Given the description of an element on the screen output the (x, y) to click on. 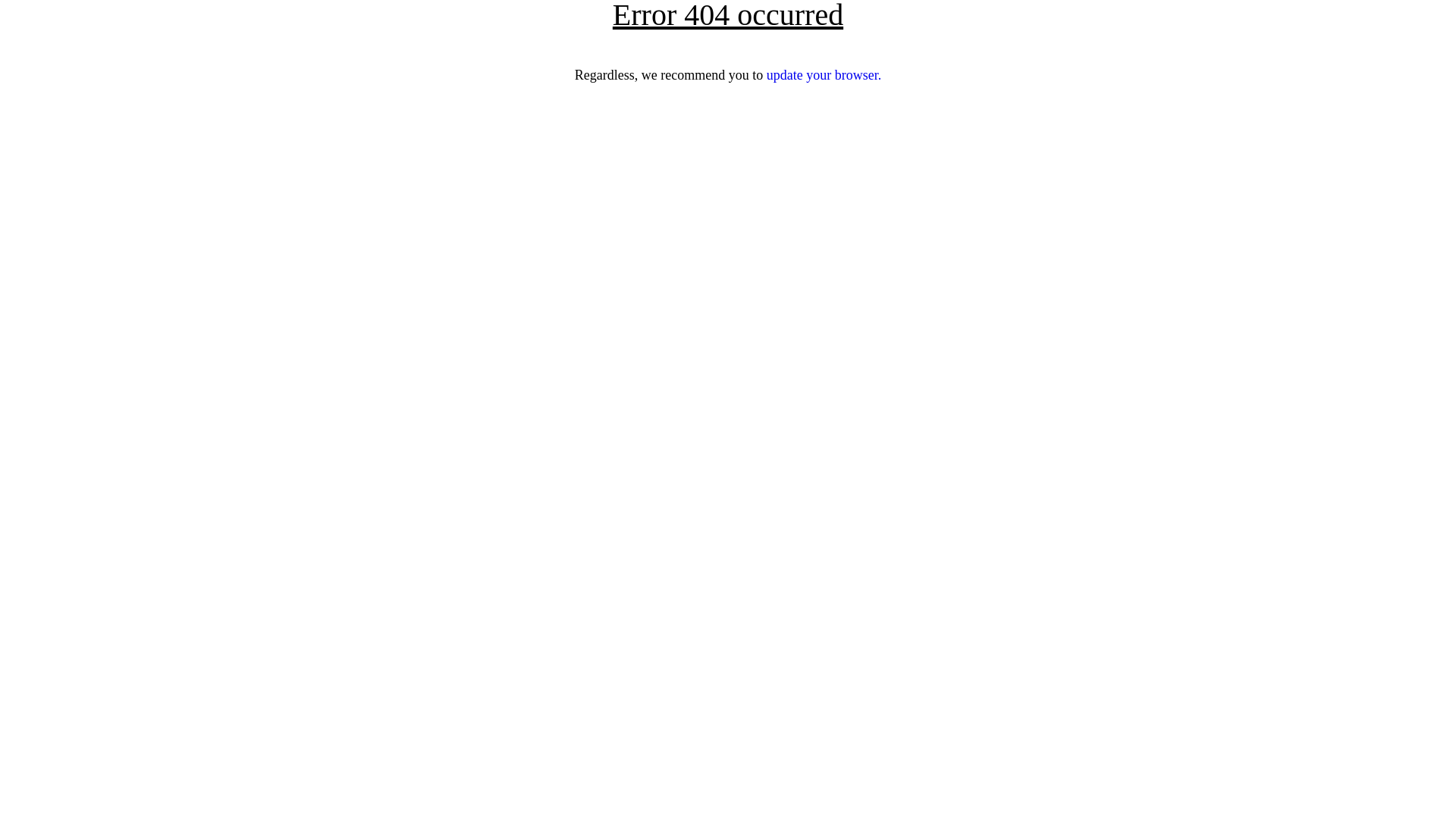
update your browser. Element type: text (823, 74)
